Given the description of an element on the screen output the (x, y) to click on. 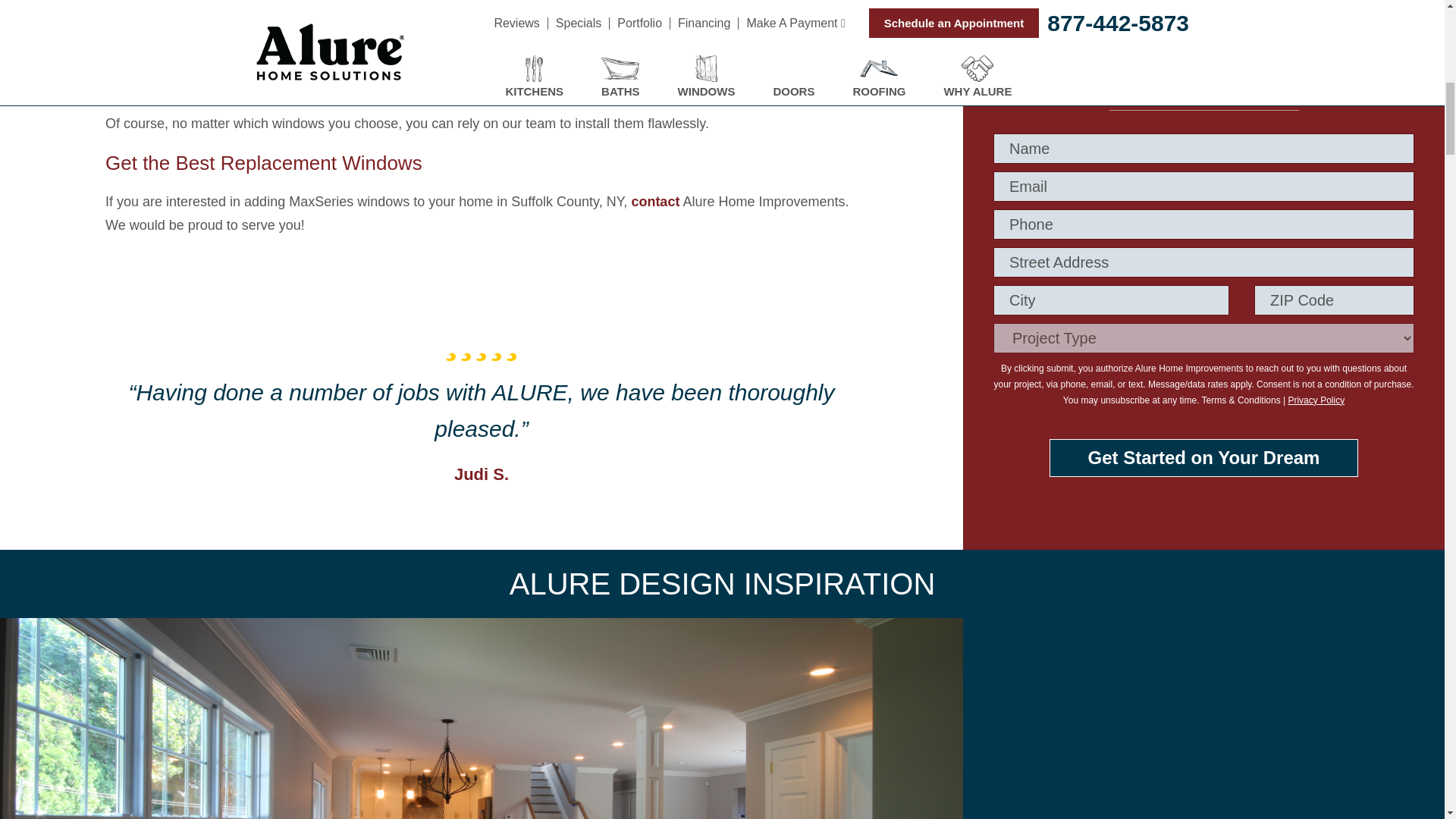
Email (1202, 186)
Phone (1202, 224)
